Given the description of an element on the screen output the (x, y) to click on. 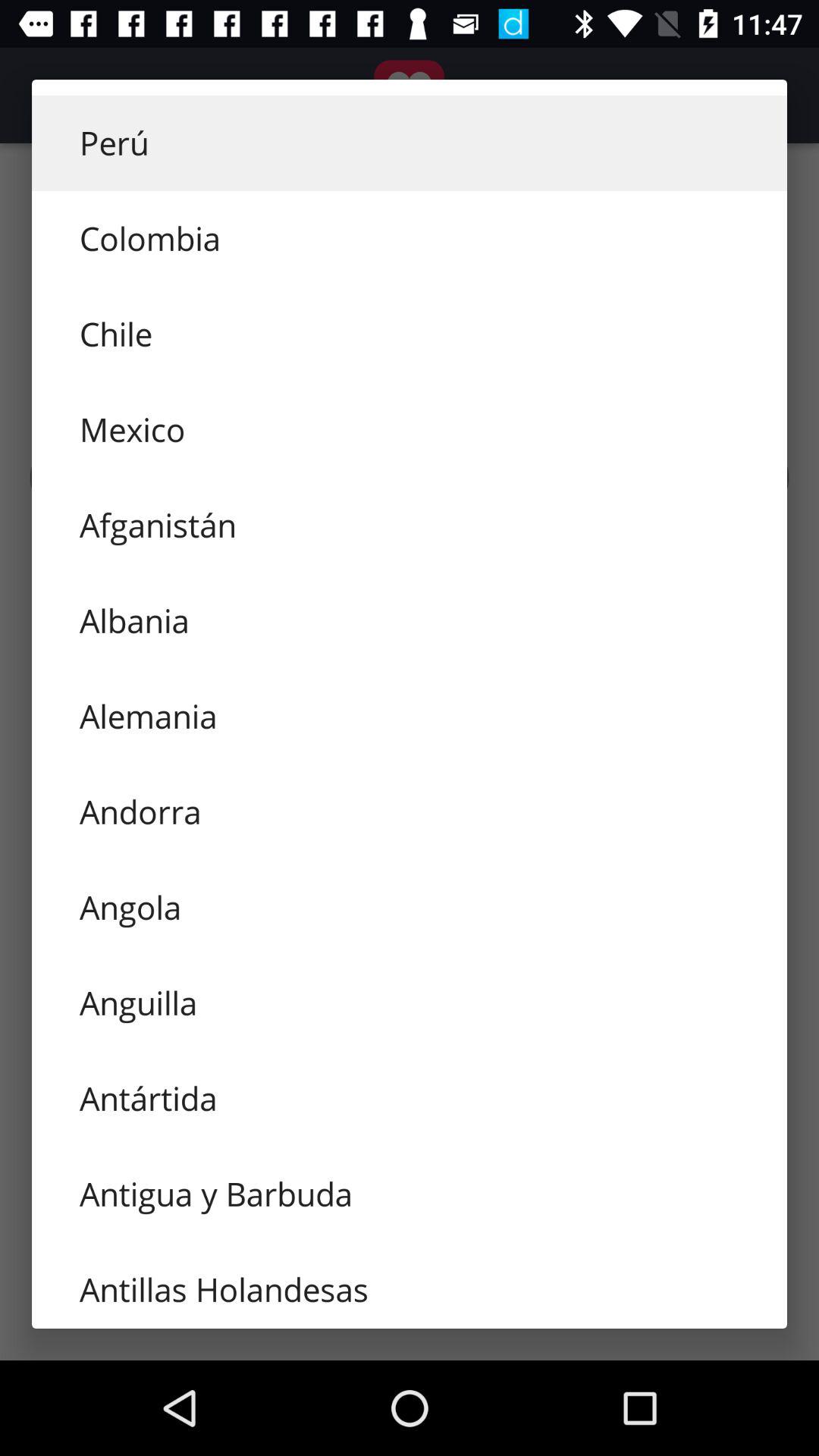
jump until the alemania icon (409, 716)
